Given the description of an element on the screen output the (x, y) to click on. 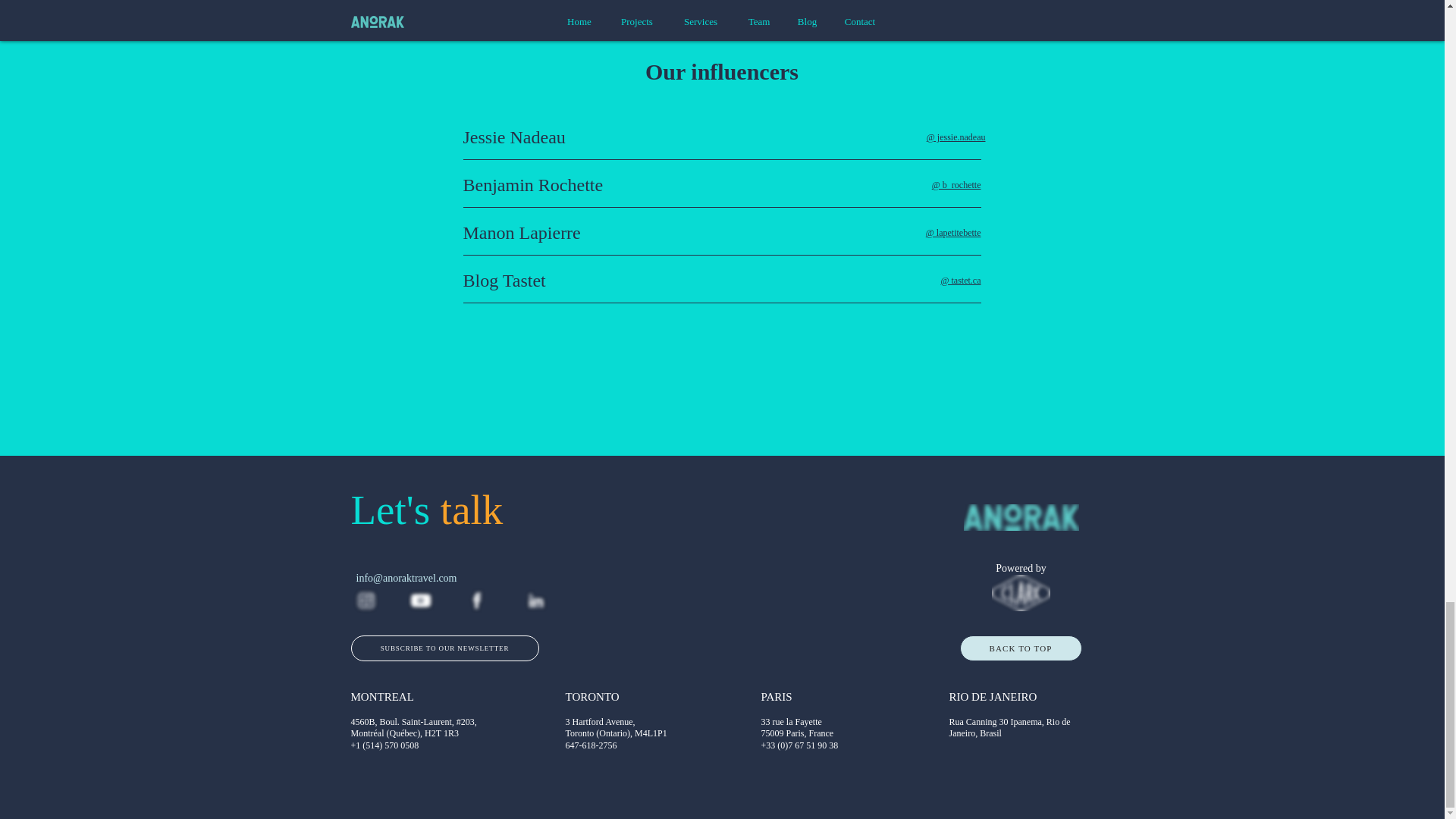
Powered by (1020, 568)
BACK TO TOP (1020, 647)
talk (471, 509)
Let's (394, 509)
SUBSCRIBE TO OUR NEWSLETTER (444, 647)
